Given the description of an element on the screen output the (x, y) to click on. 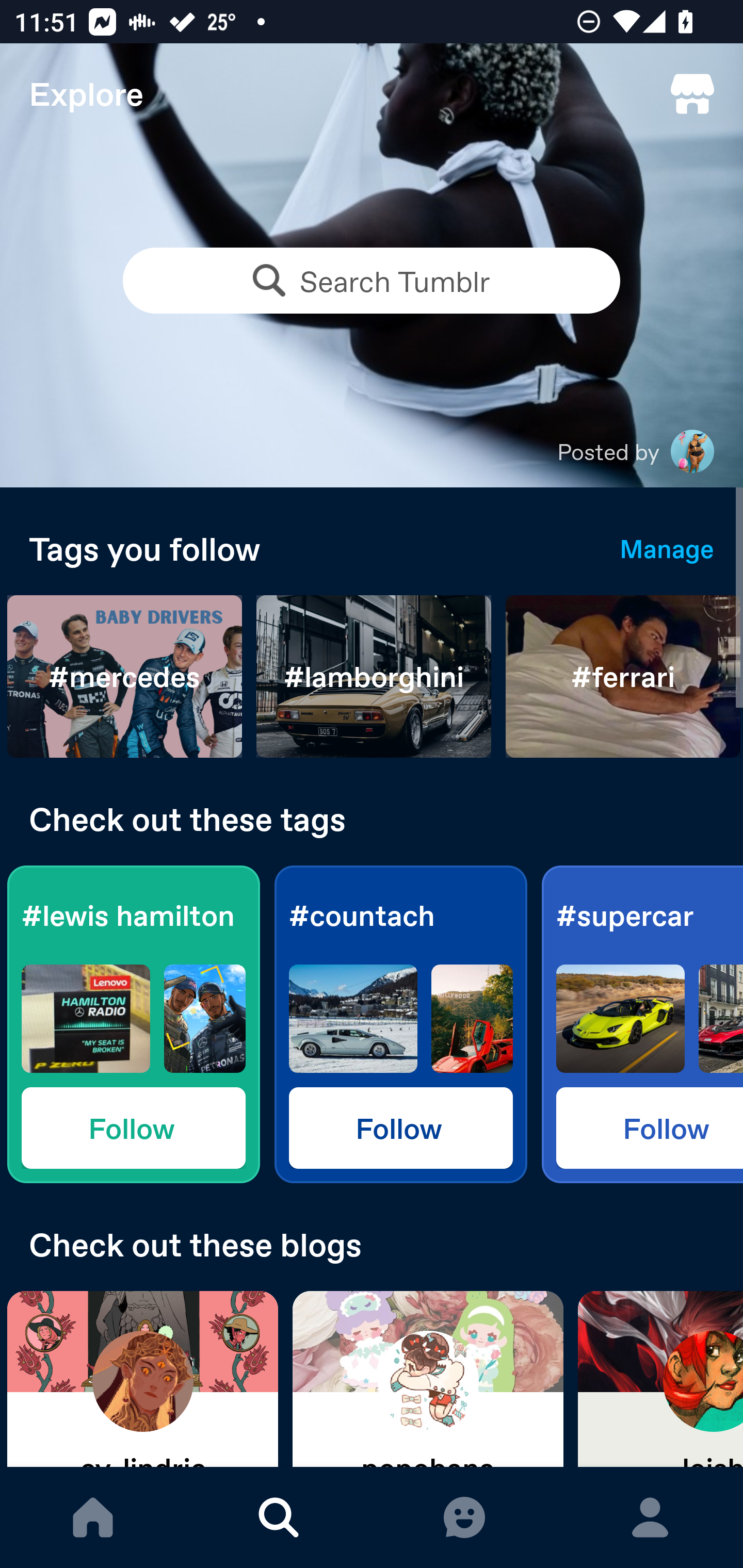
TumblrMart (692, 94)
Search Tumblr (371, 280)
Tags you follow (309, 547)
Manage (666, 547)
#mercedes (124, 676)
#lamborghini (373, 676)
#ferrari (622, 676)
Check out these tags (371, 819)
#lewis hamilton Follow (133, 1024)
#countach Follow (400, 1024)
#supercar Follow (642, 1024)
Follow (133, 1127)
Follow (400, 1127)
Follow (649, 1127)
Check out these blogs (371, 1244)
cy-lindric (142, 1378)
popobana (427, 1378)
loish (660, 1378)
DASHBOARD (92, 1517)
EXPLORE (278, 1517)
MESSAGES (464, 1517)
ACCOUNT (650, 1517)
